Given the description of an element on the screen output the (x, y) to click on. 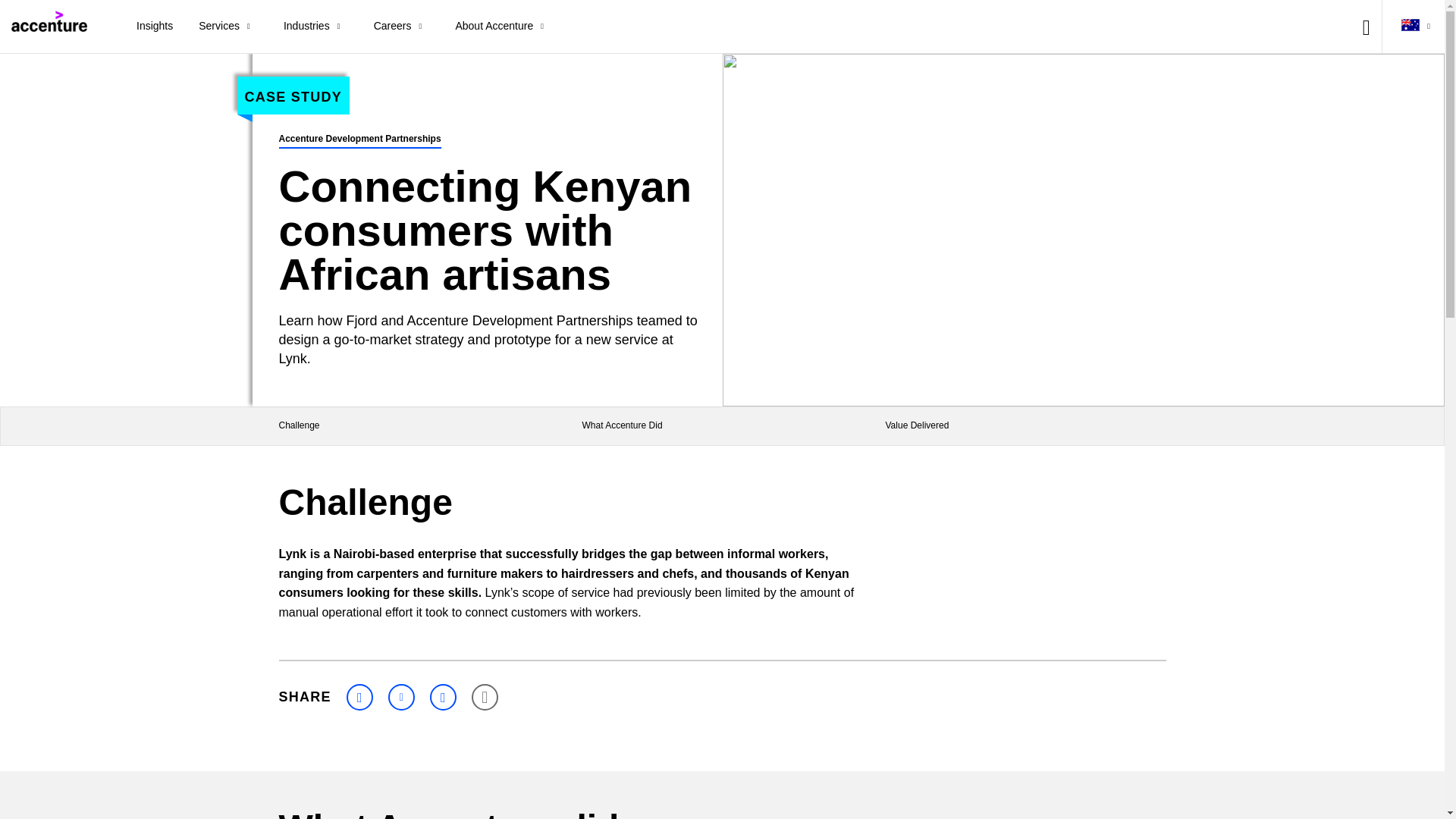
Insights (154, 26)
Industries (315, 26)
Services (228, 26)
